Given the description of an element on the screen output the (x, y) to click on. 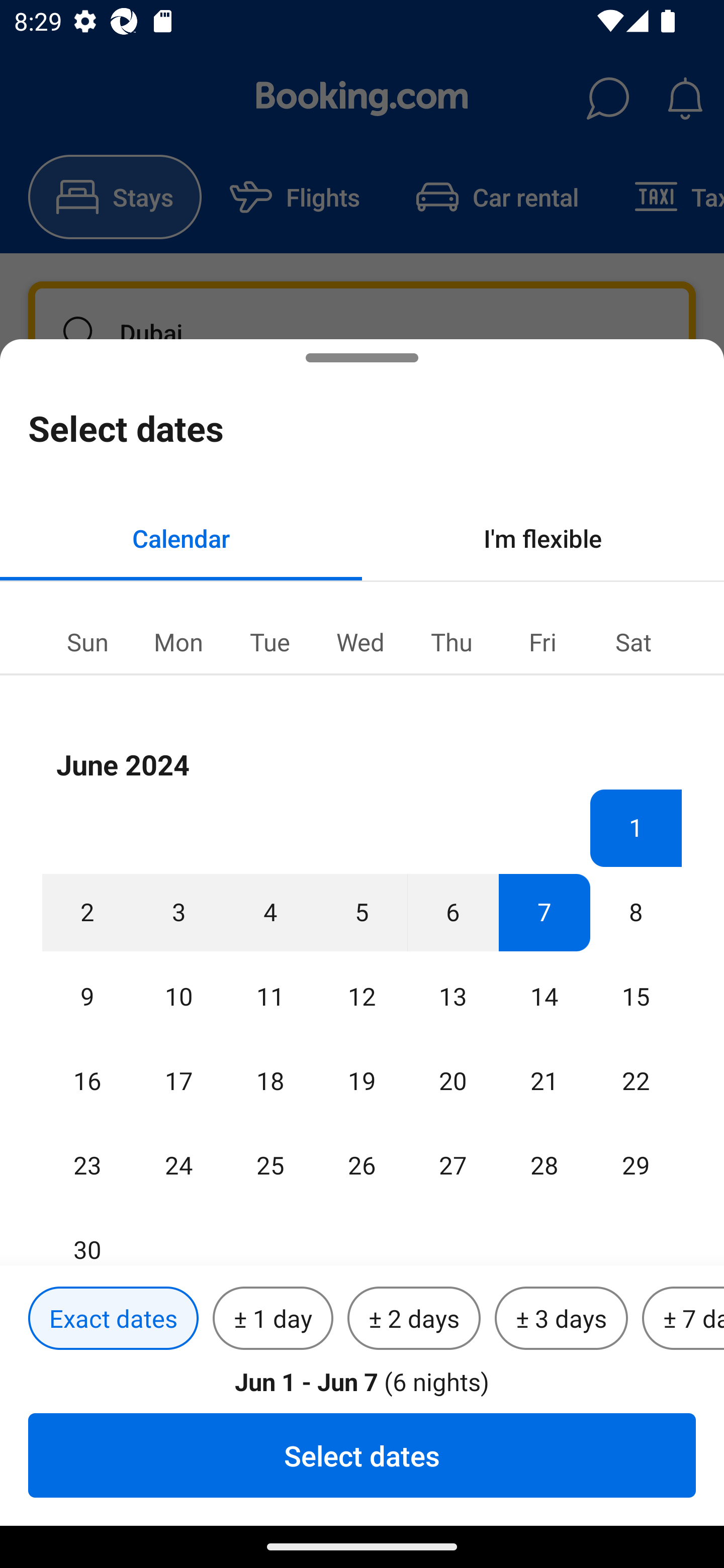
I'm flexible (543, 537)
Exact dates (113, 1318)
± 1 day (272, 1318)
± 2 days (413, 1318)
± 3 days (560, 1318)
± 7 days (683, 1318)
Select dates (361, 1454)
